Given the description of an element on the screen output the (x, y) to click on. 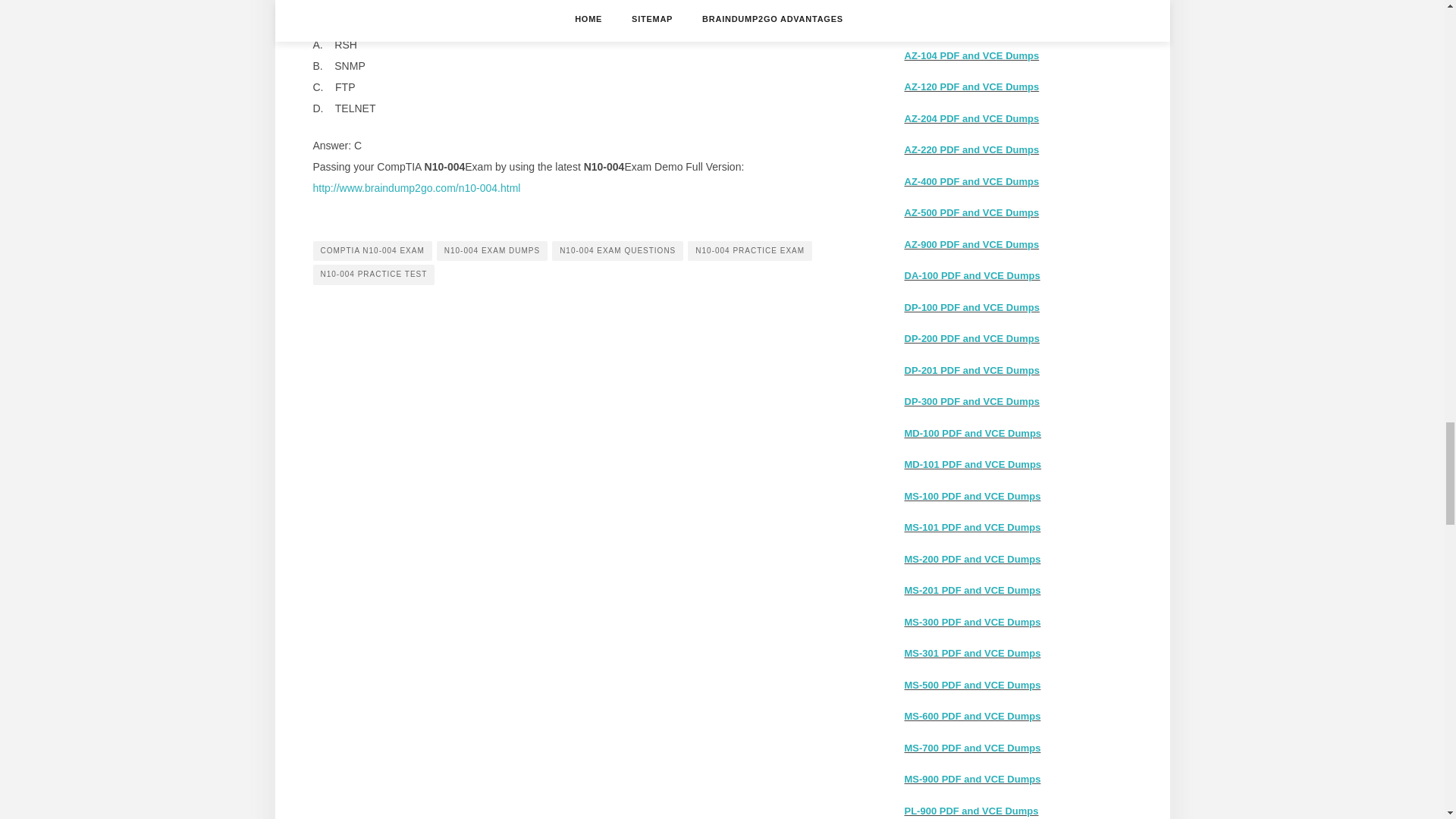
N10-004 PRACTICE TEST (373, 274)
COMPTIA N10-004 EXAM (371, 250)
N10-004 PRACTICE EXAM (749, 250)
N10-004 EXAM QUESTIONS (616, 250)
N10-004 EXAM DUMPS (491, 250)
